Given the description of an element on the screen output the (x, y) to click on. 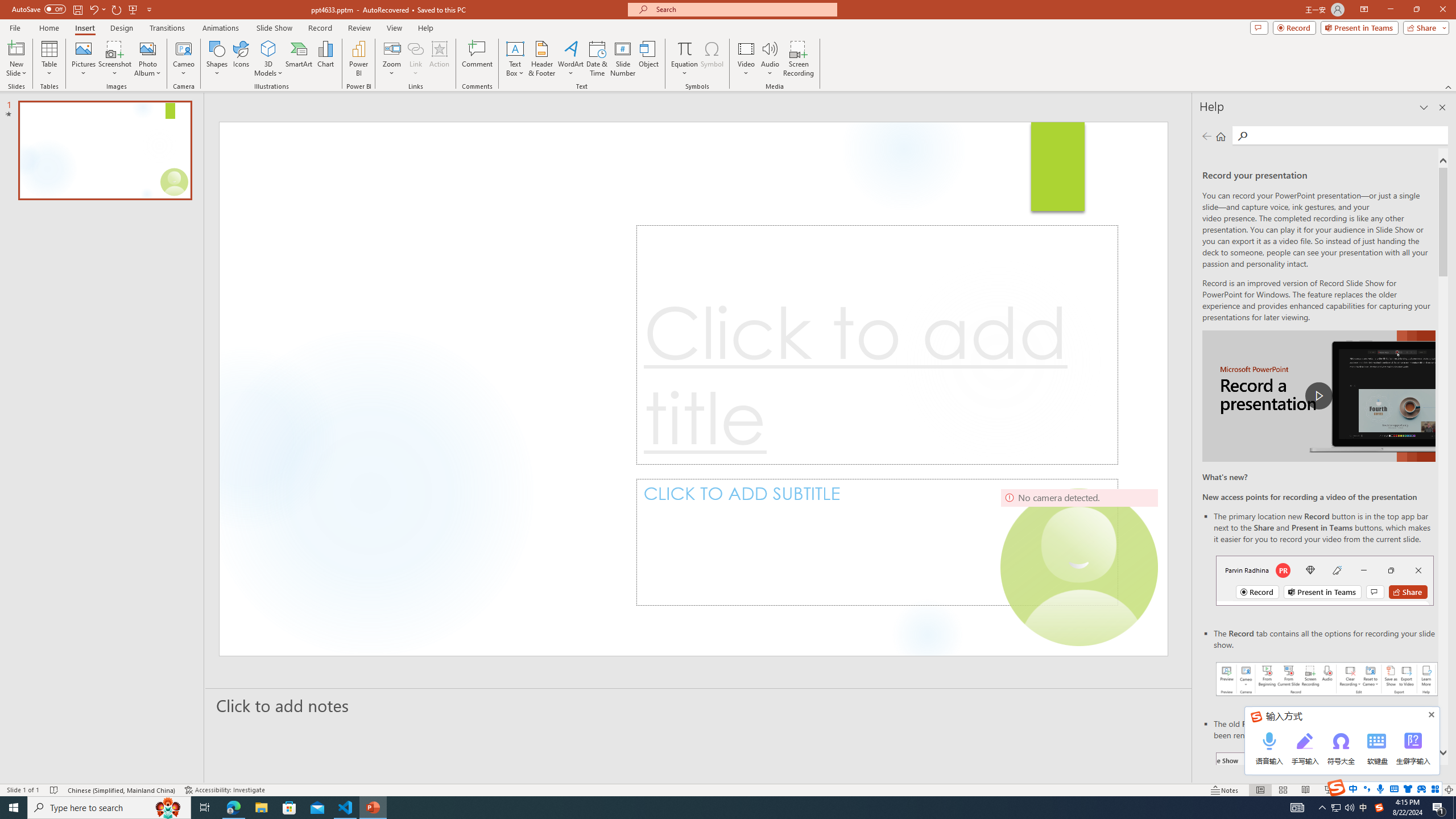
WordArt (570, 58)
Photo Album... (147, 58)
Draw Horizontal Text Box (515, 48)
Power BI (358, 58)
Video (745, 58)
